Given the description of an element on the screen output the (x, y) to click on. 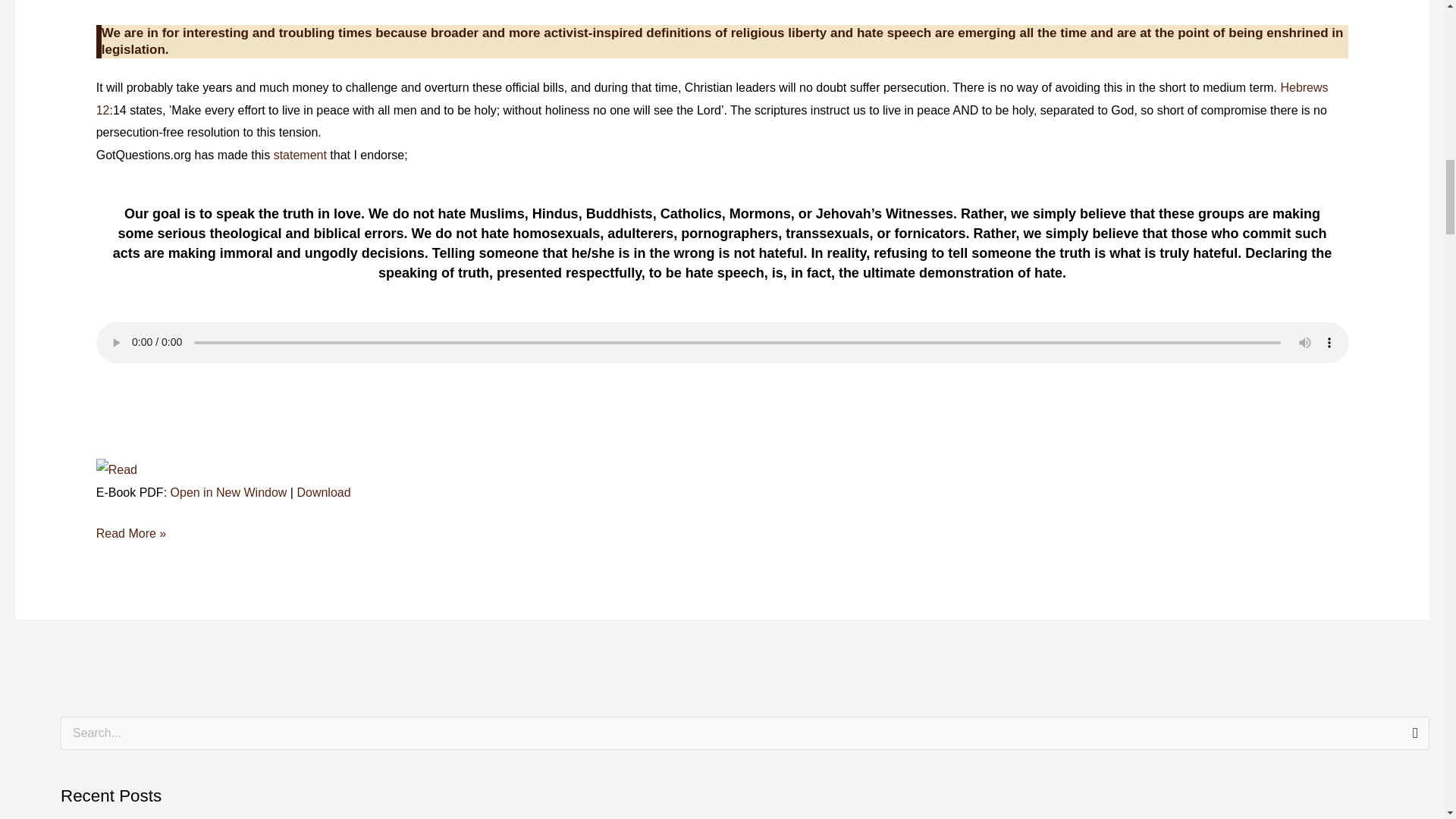
Read (116, 468)
Hebrews 12 (711, 99)
Download (323, 492)
Download (323, 492)
statement (301, 154)
Open in New Window (228, 492)
Open in New Window (228, 492)
Read (116, 469)
